Given the description of an element on the screen output the (x, y) to click on. 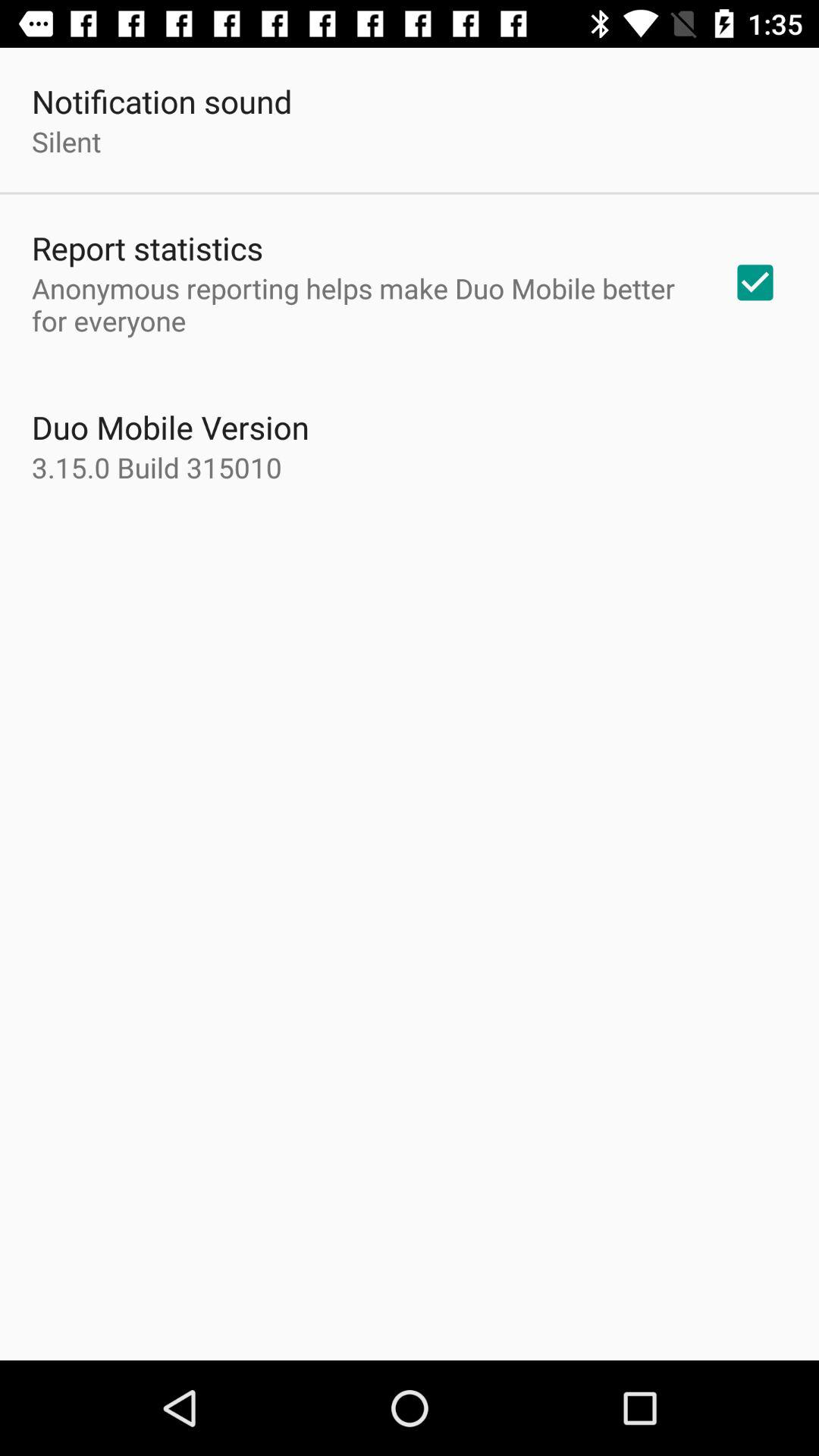
click the item next to anonymous reporting helps (755, 282)
